Given the description of an element on the screen output the (x, y) to click on. 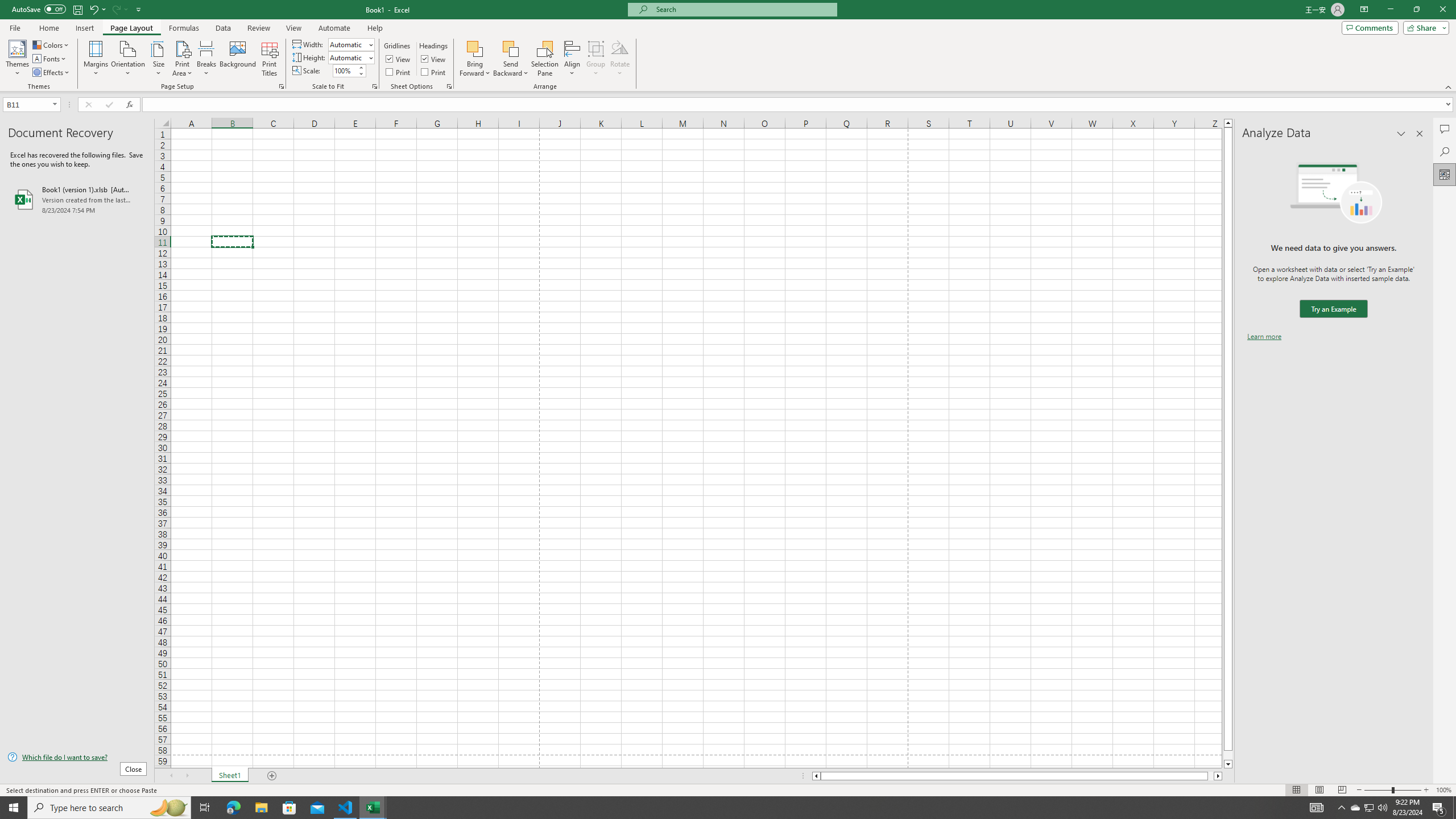
Orientation (128, 58)
